Given the description of an element on the screen output the (x, y) to click on. 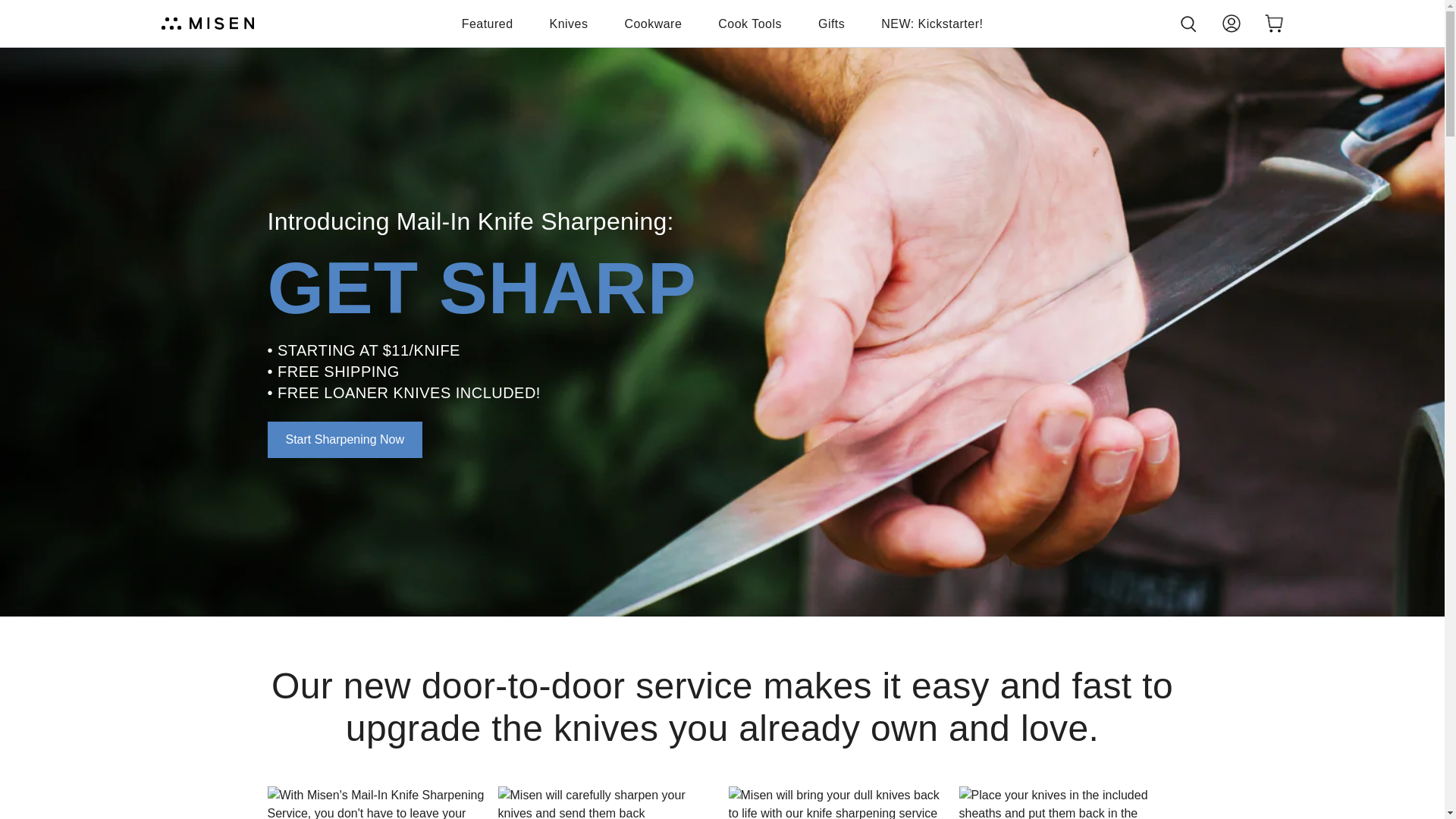
Cookware (652, 24)
NEW: Kickstarter! (931, 24)
Gifts (831, 24)
Skip to content (17, 8)
Knives (569, 24)
Cook Tools (749, 24)
Featured (487, 24)
